Given the description of an element on the screen output the (x, y) to click on. 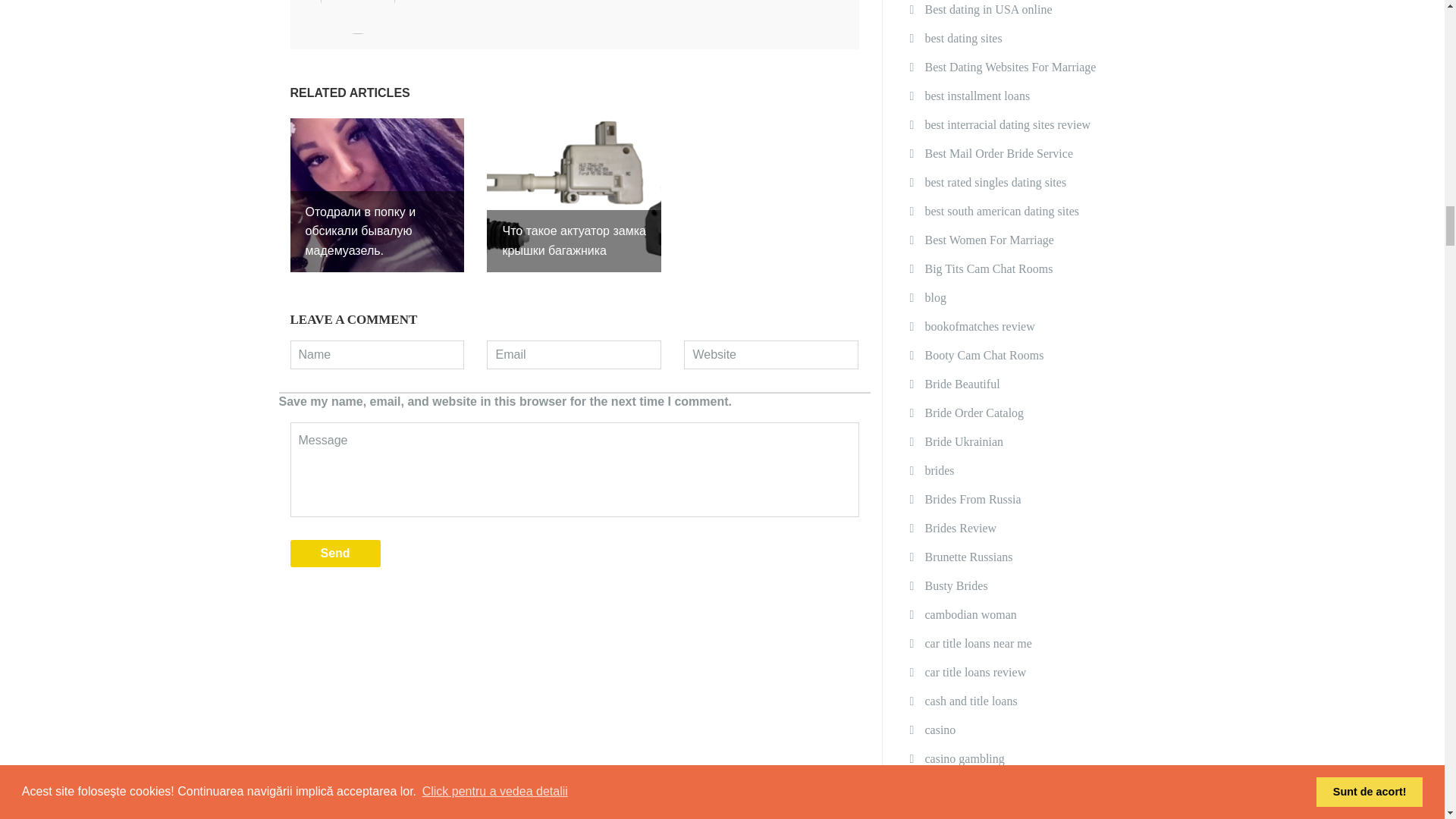
Send (334, 553)
casino gambling (964, 758)
Send (334, 553)
